Given the description of an element on the screen output the (x, y) to click on. 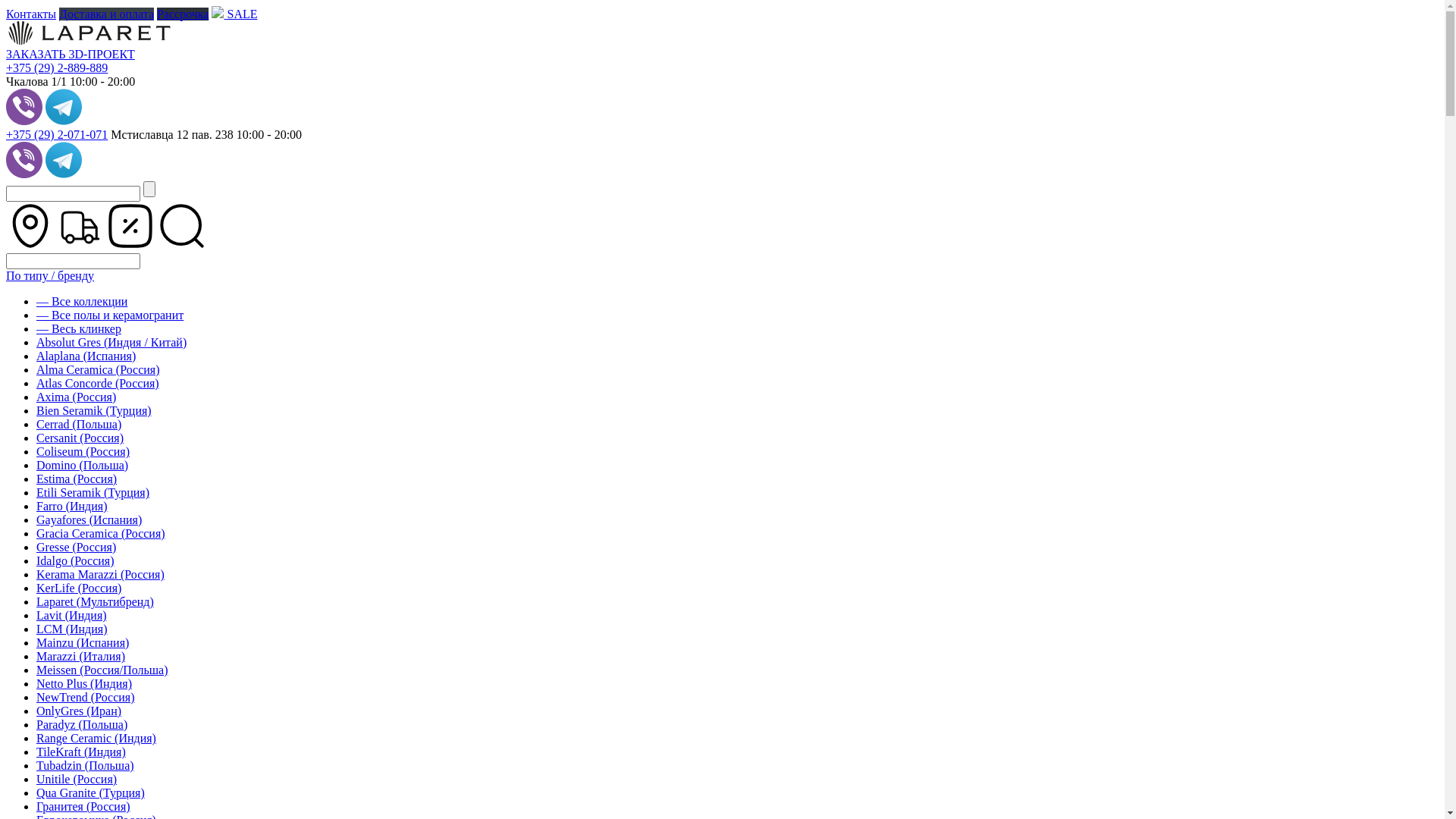
SALE Element type: text (234, 13)
+375 (29) 2-071-071 Element type: text (56, 134)
+375 (29) 2-889-889 Element type: text (56, 67)
